Given the description of an element on the screen output the (x, y) to click on. 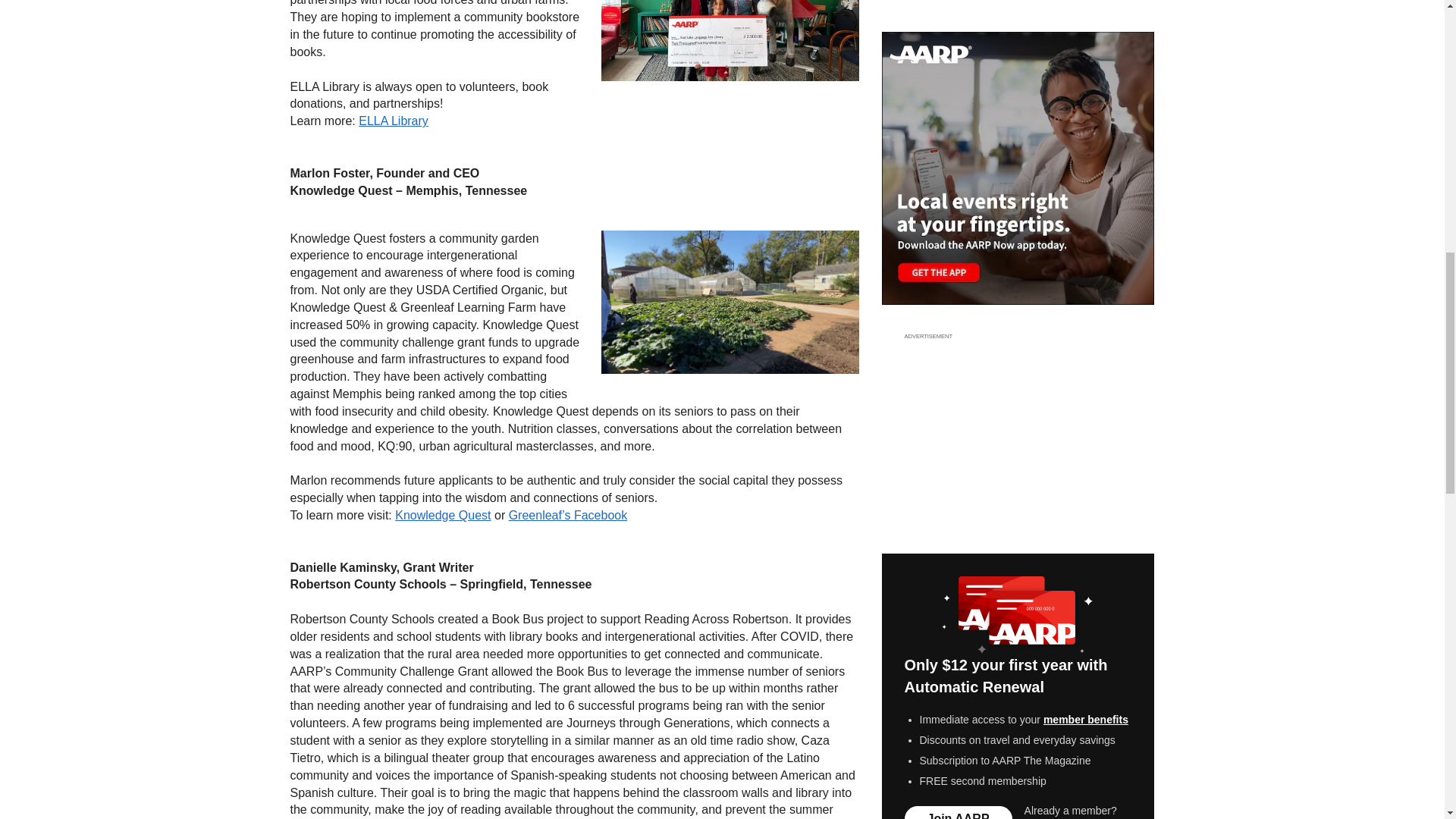
3rd party ad content (1017, 435)
image of two AARP membership cards (1017, 615)
Explore the free AARP Now App (1017, 167)
